Given the description of an element on the screen output the (x, y) to click on. 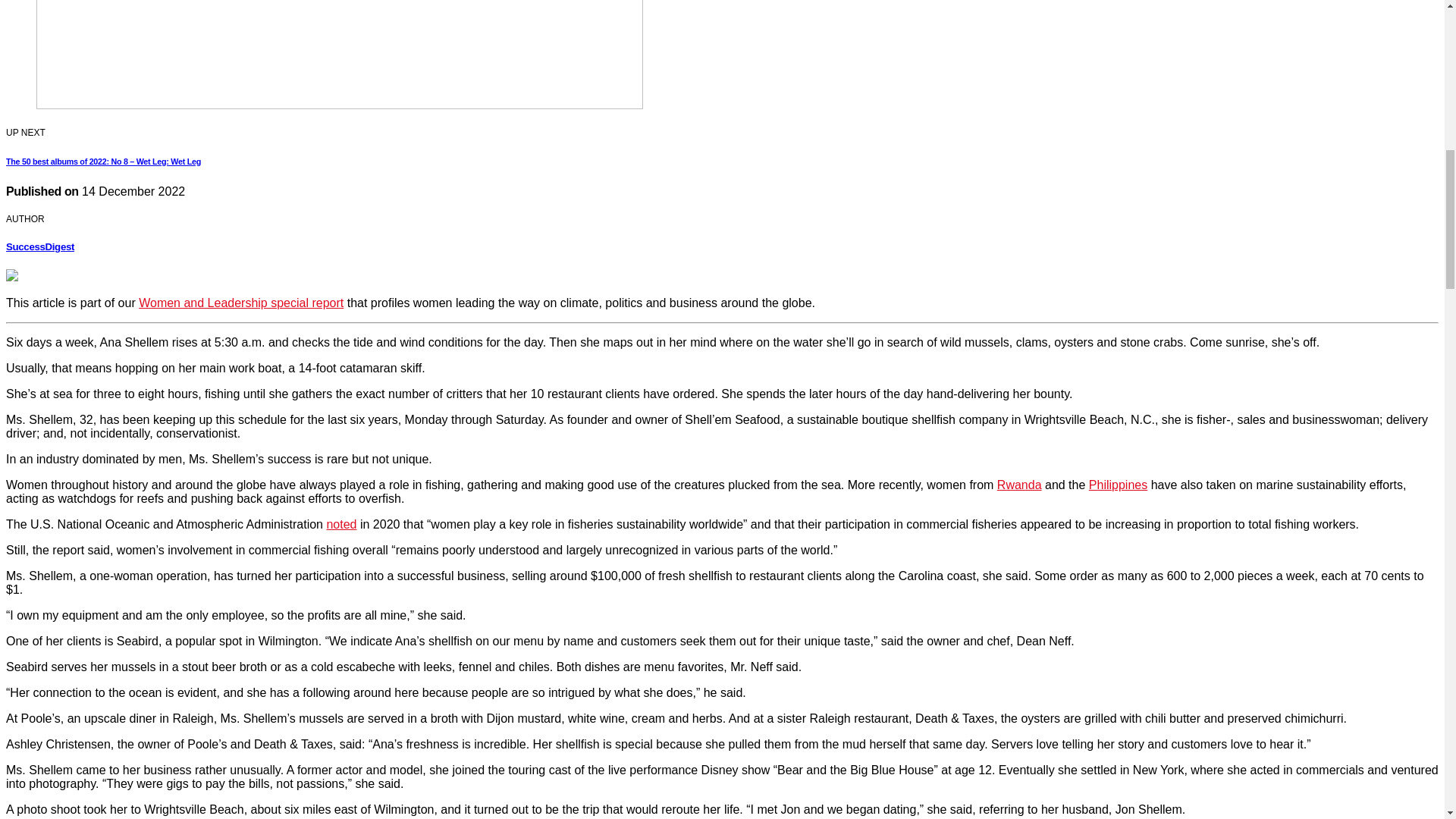
Women and Leadership special report (240, 302)
SuccessDigest (39, 246)
